Given the description of an element on the screen output the (x, y) to click on. 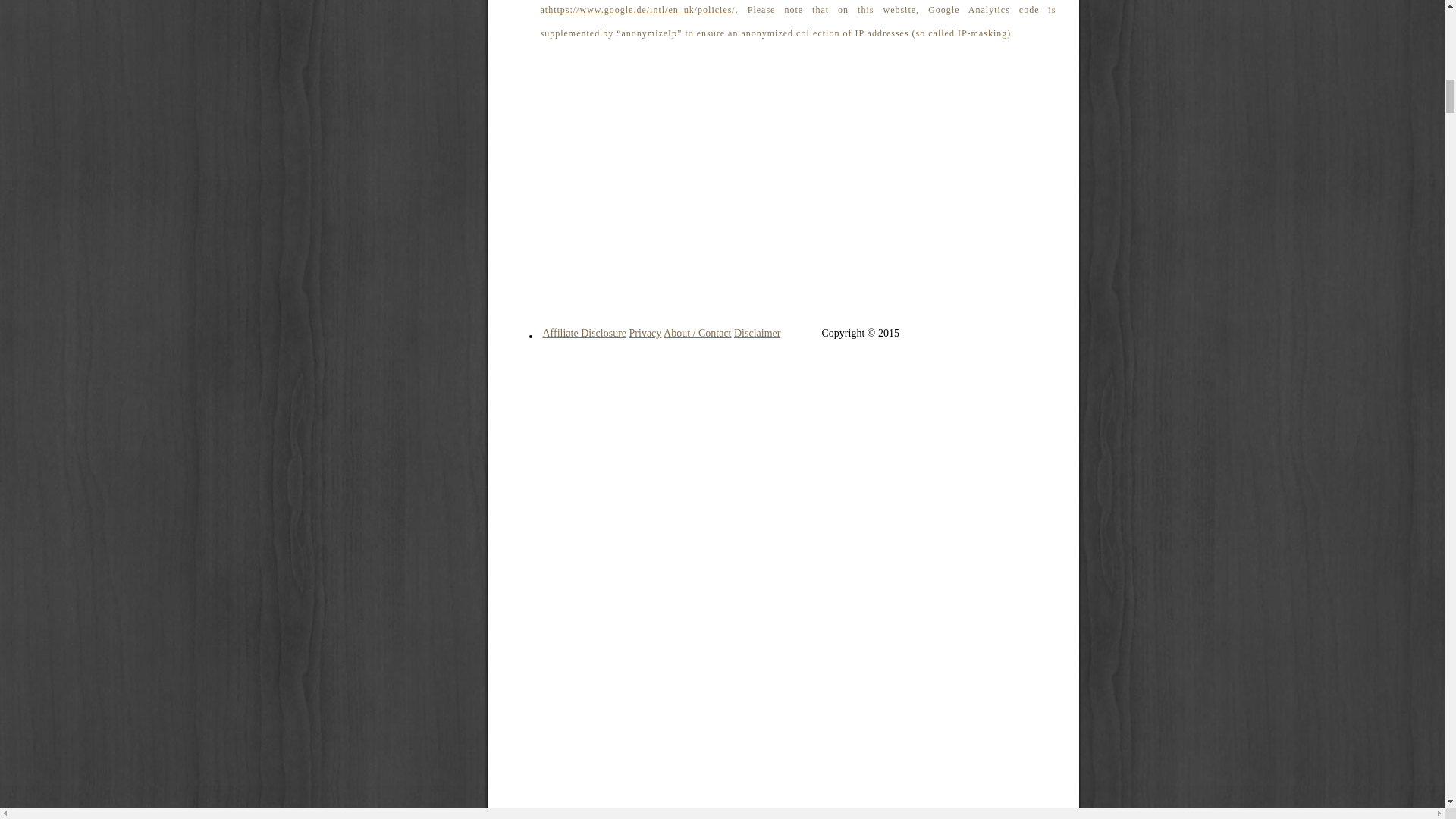
Affiliate Disclosure (585, 333)
Privacy (645, 333)
Disclaimer (756, 333)
